Given the description of an element on the screen output the (x, y) to click on. 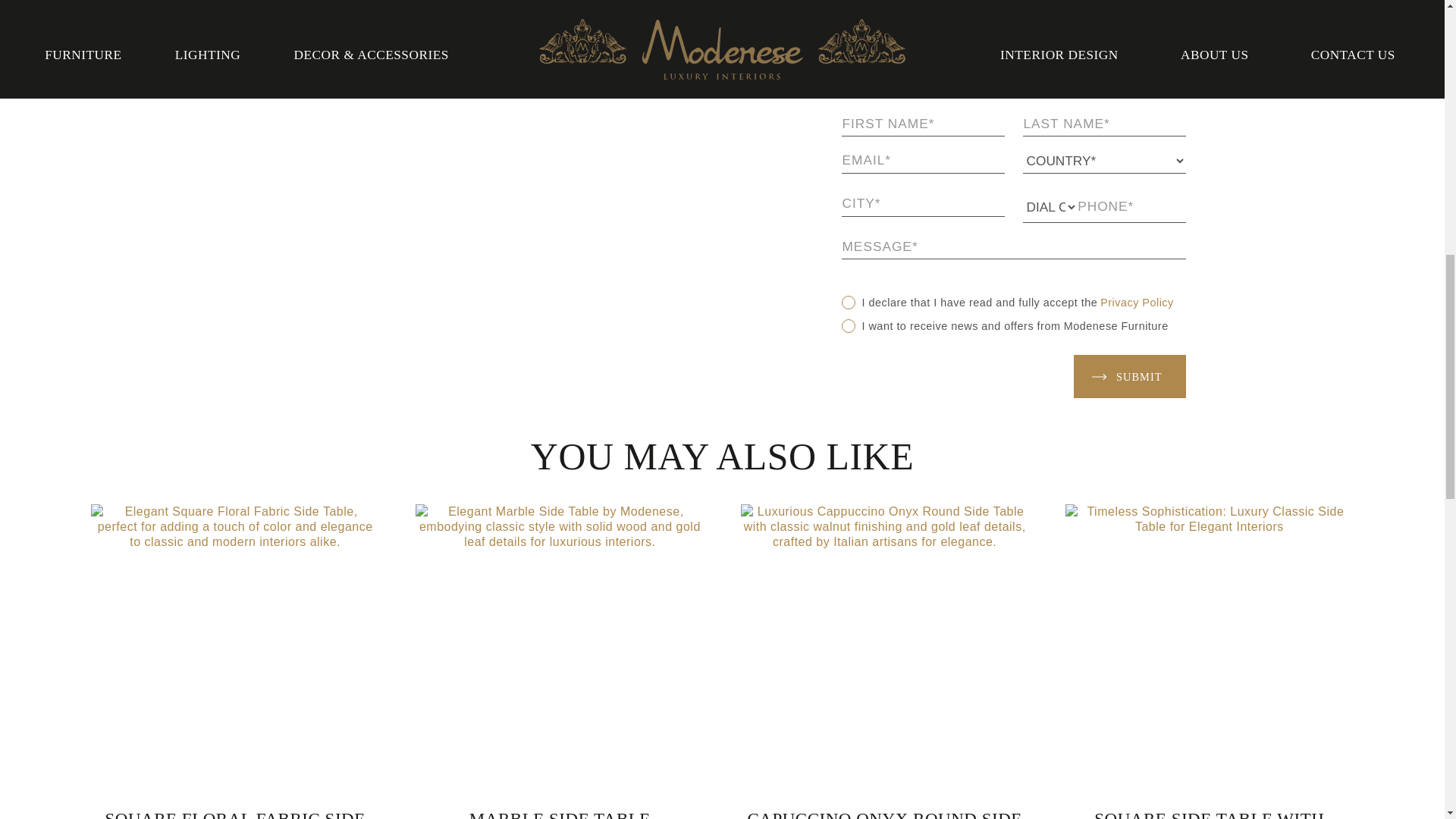
SQUARE SIDE TABLE WITH GREEN ONYX TOP AND WALNUT FINISH (1209, 661)
SUBMIT (1130, 375)
CAPUCCINO ONYX ROUND SIDE TABLE (883, 661)
Privacy Policy  (1136, 302)
MARBLE SIDE TABLE (558, 661)
Privacy Policy (1136, 302)
SQUARE FLORAL FABRIC SIDE TABLE (234, 661)
